Given the description of an element on the screen output the (x, y) to click on. 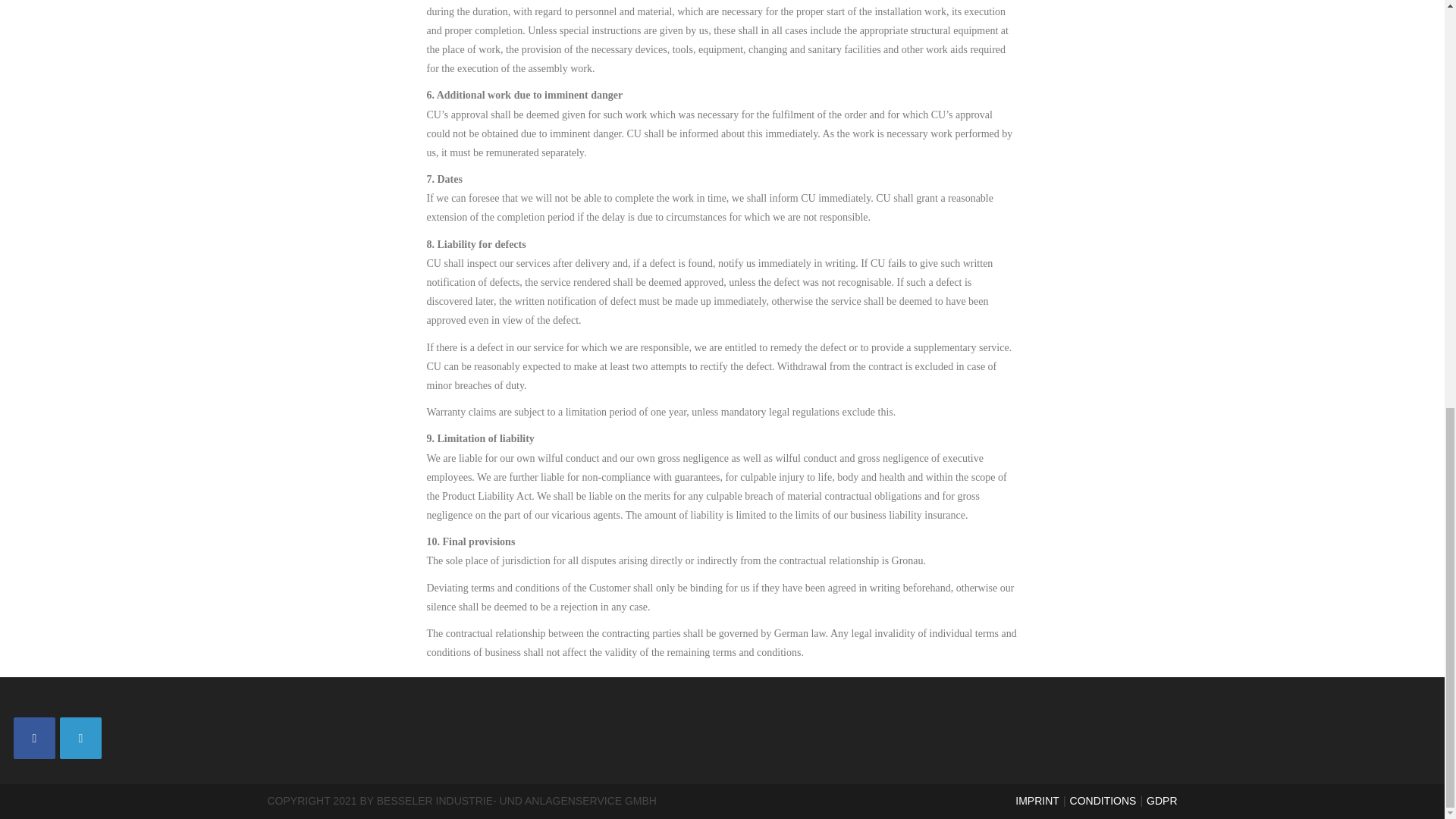
GDPR (1161, 800)
IMPRINT (1036, 800)
CONDITIONS (1103, 800)
